Given the description of an element on the screen output the (x, y) to click on. 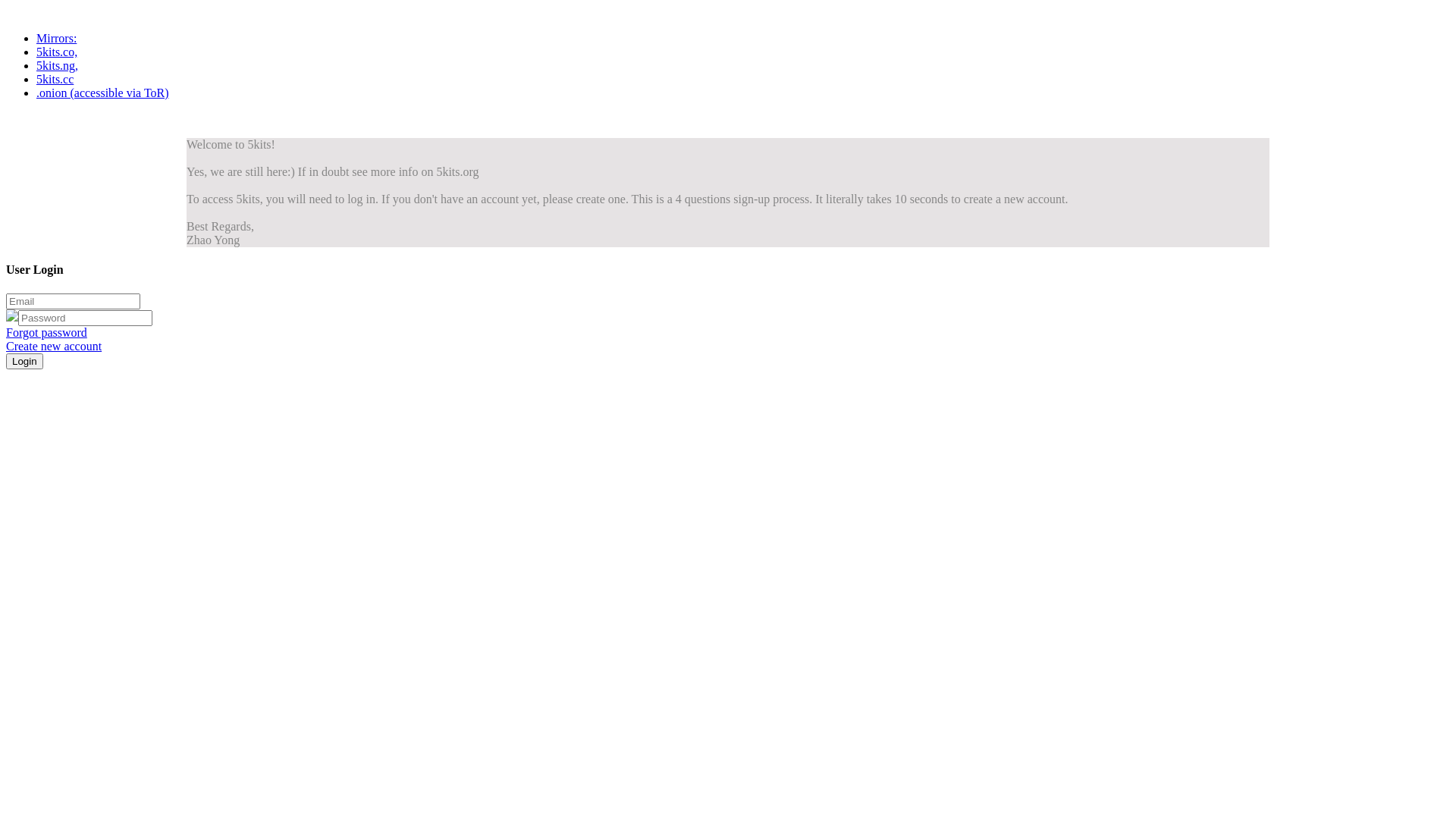
.onion (accessible via ToR) Element type: text (102, 92)
Mirrors: Element type: text (56, 37)
5kits.ng, Element type: text (57, 65)
5kits.co, Element type: text (56, 51)
Login Element type: text (24, 361)
Create new account Element type: text (53, 345)
5kits.cc Element type: text (54, 78)
Forgot password Element type: text (46, 332)
